Given the description of an element on the screen output the (x, y) to click on. 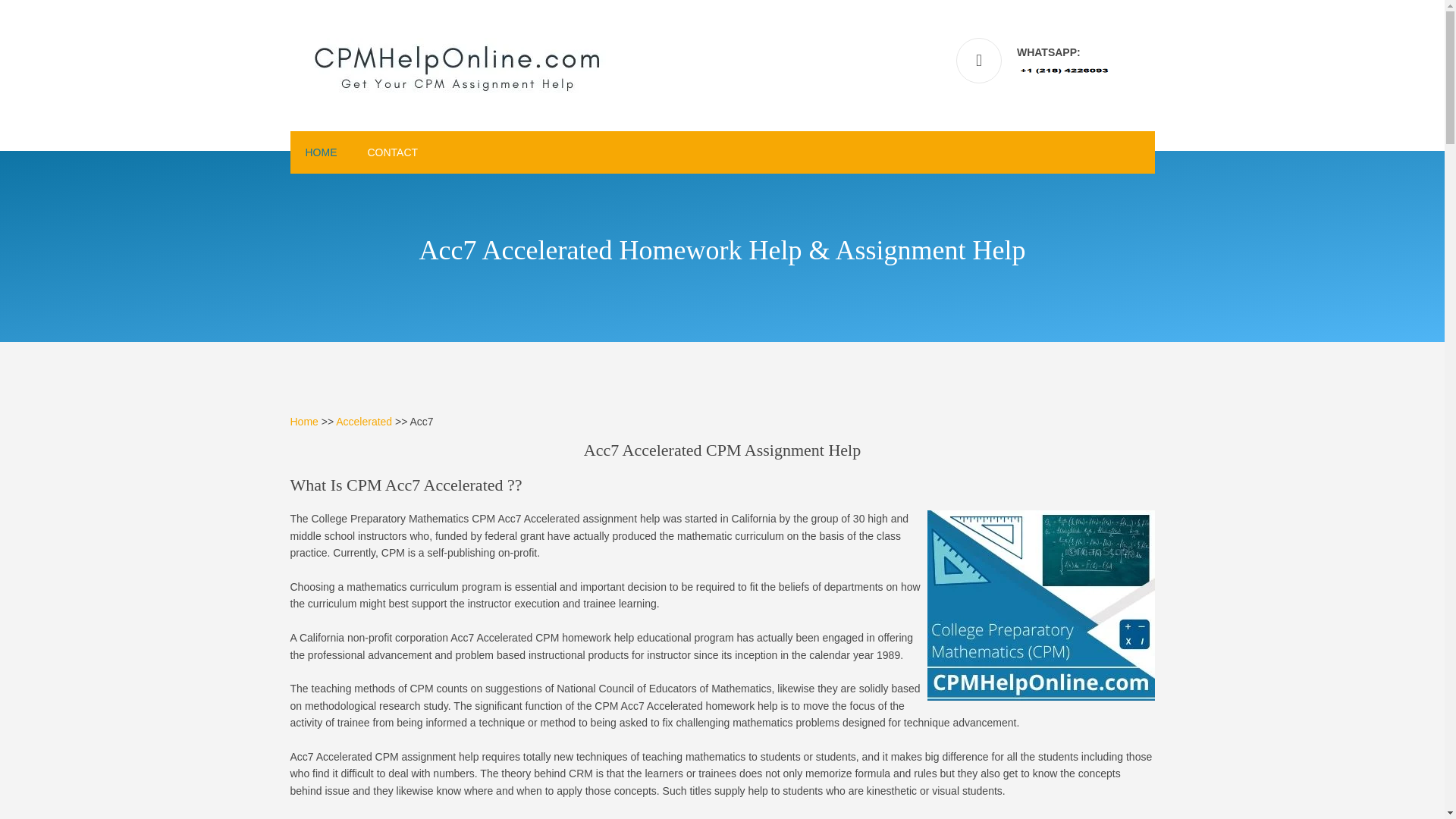
Home (303, 421)
Accelerated (363, 421)
HOME (320, 152)
CONTACT (392, 152)
